Given the description of an element on the screen output the (x, y) to click on. 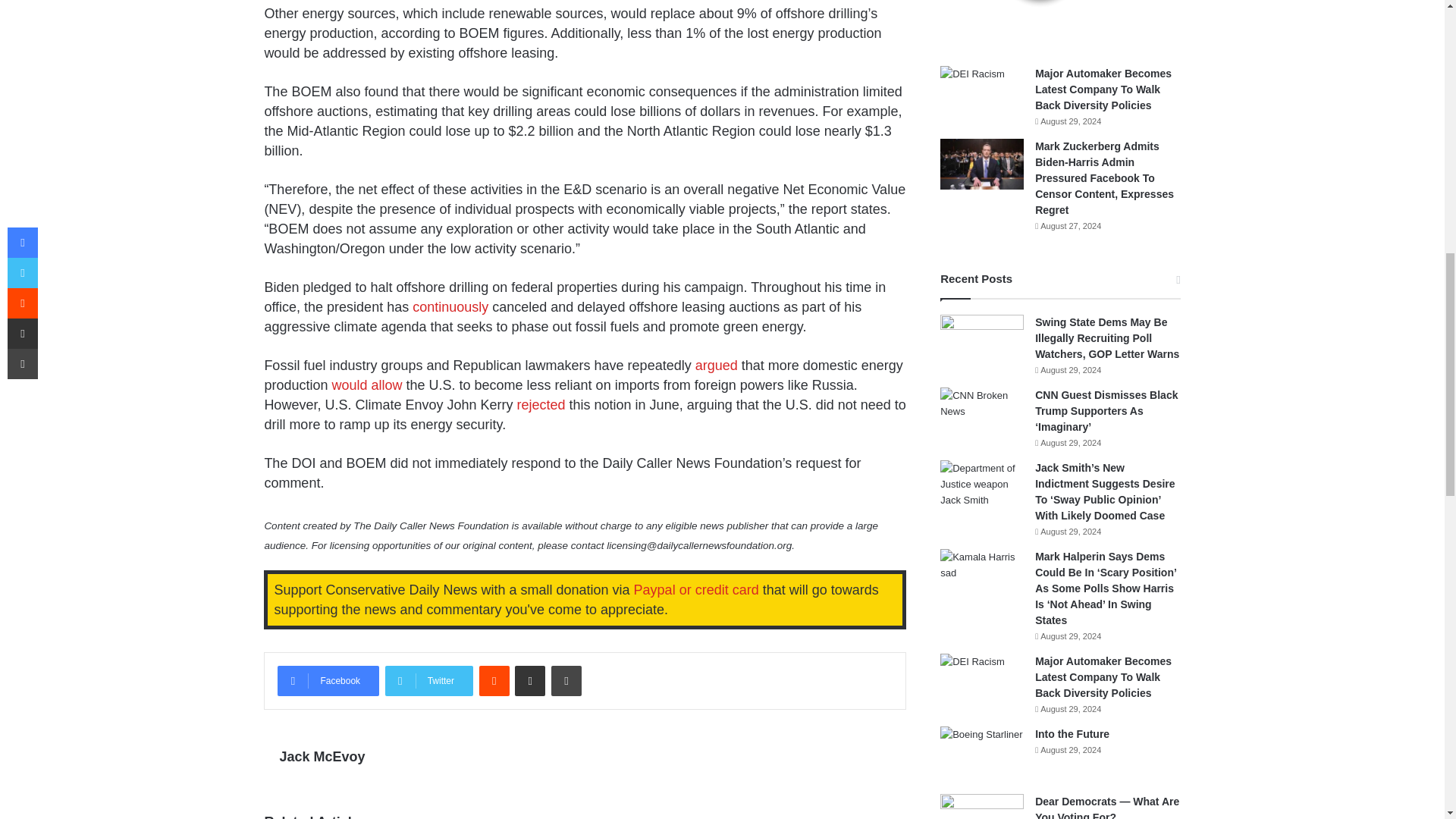
Share via Email (529, 680)
Twitter (429, 680)
Facebook (328, 680)
Reddit (494, 680)
